Given the description of an element on the screen output the (x, y) to click on. 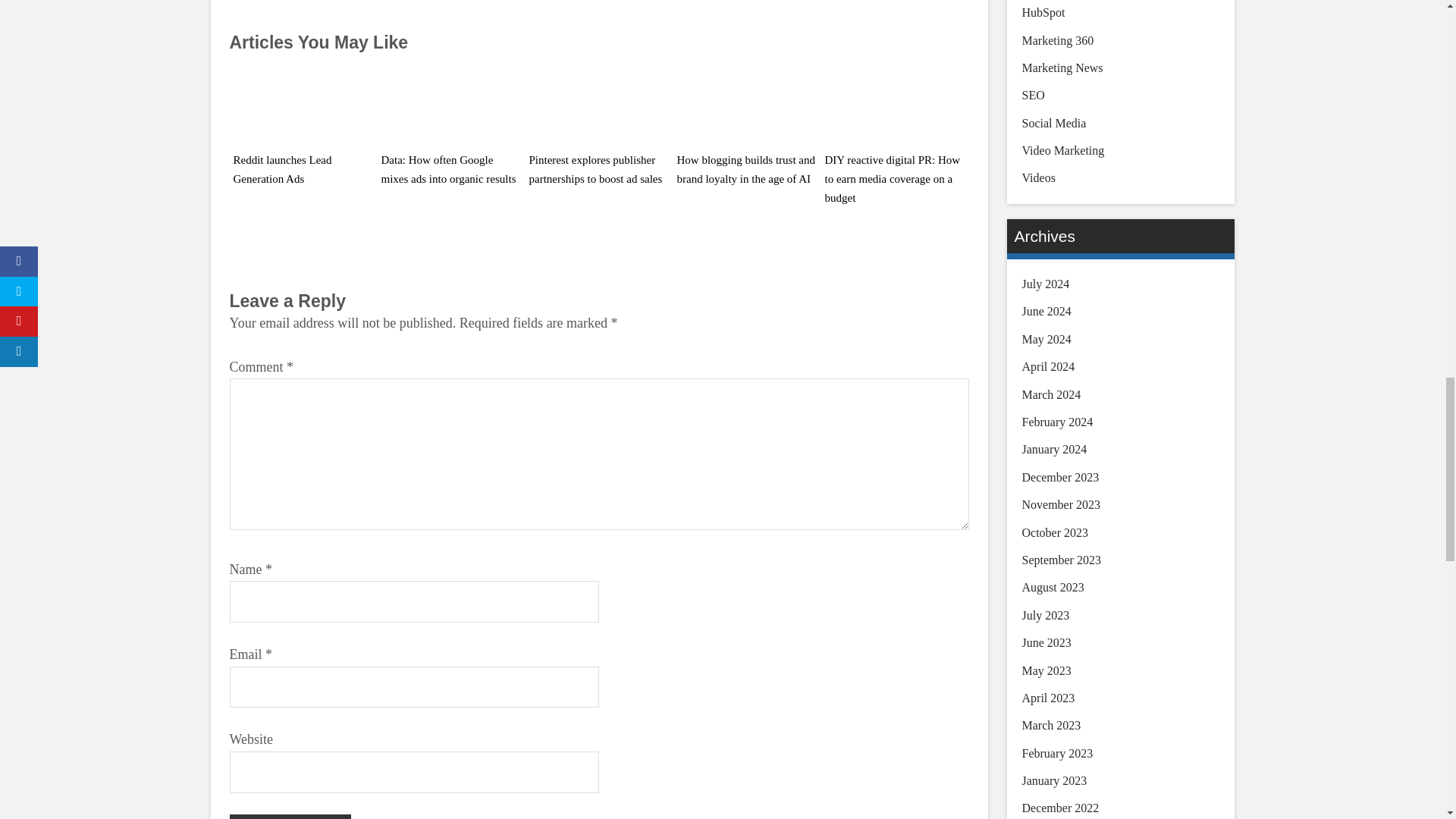
Post Comment (289, 816)
